Given the description of an element on the screen output the (x, y) to click on. 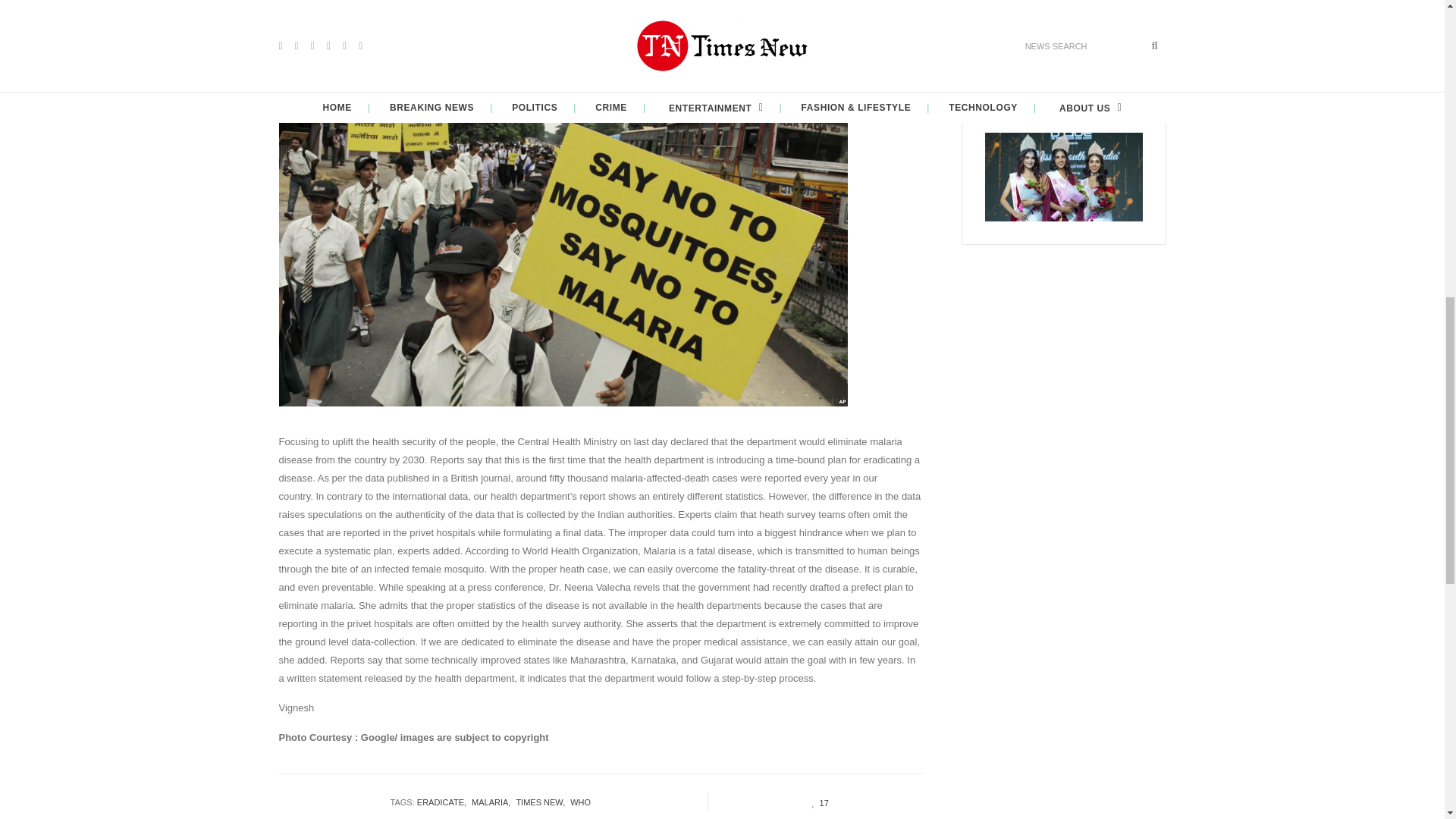
MALARIA (493, 802)
17 (815, 801)
WHO (582, 802)
TIMES NEW (542, 802)
ERADICATE (443, 802)
Like (815, 801)
